Given the description of an element on the screen output the (x, y) to click on. 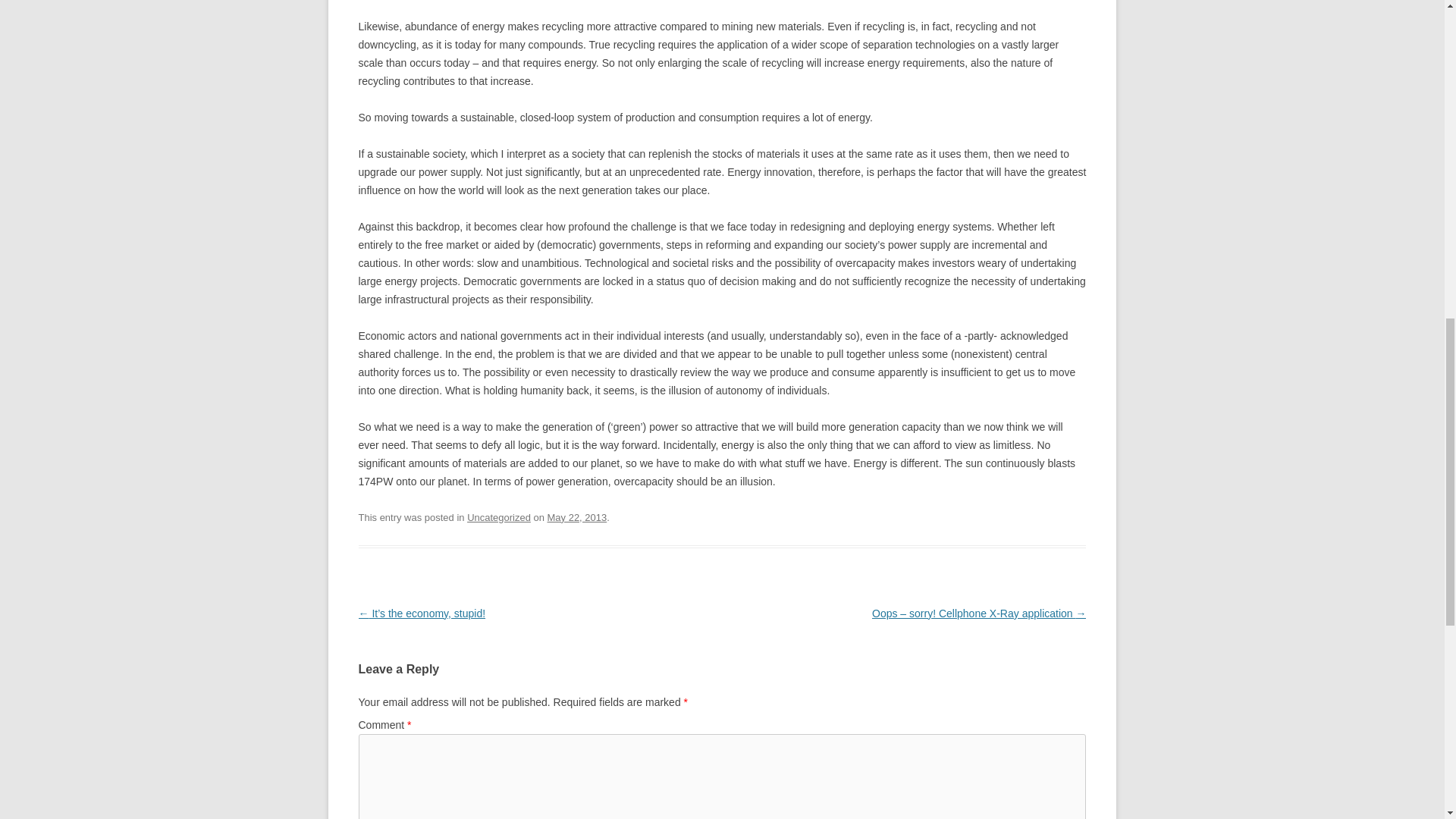
Uncategorized (499, 517)
1:25 pm (577, 517)
May 22, 2013 (577, 517)
